Given the description of an element on the screen output the (x, y) to click on. 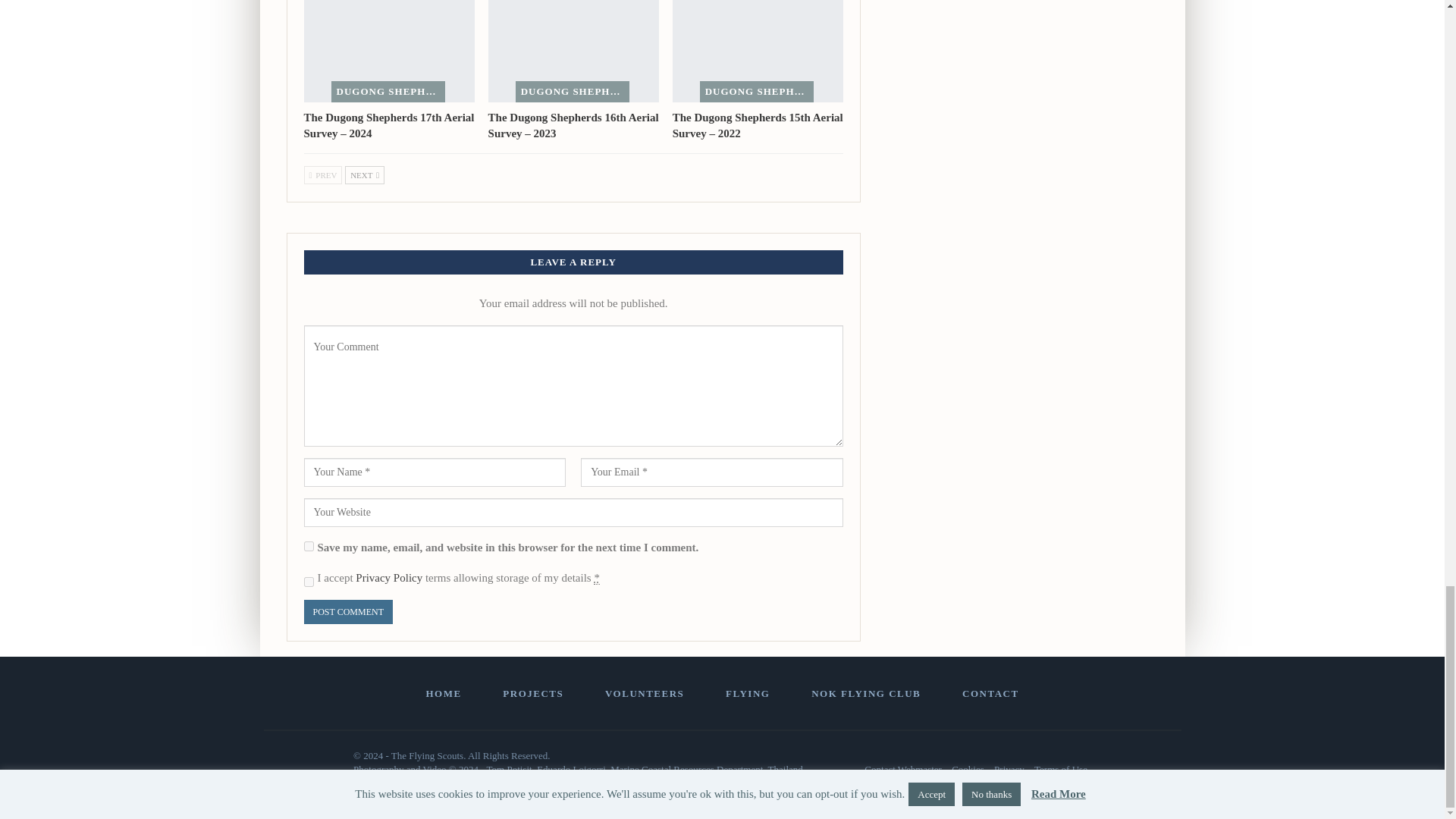
yes (307, 546)
Next (364, 175)
Previous (322, 175)
Post Comment (346, 611)
